Given the description of an element on the screen output the (x, y) to click on. 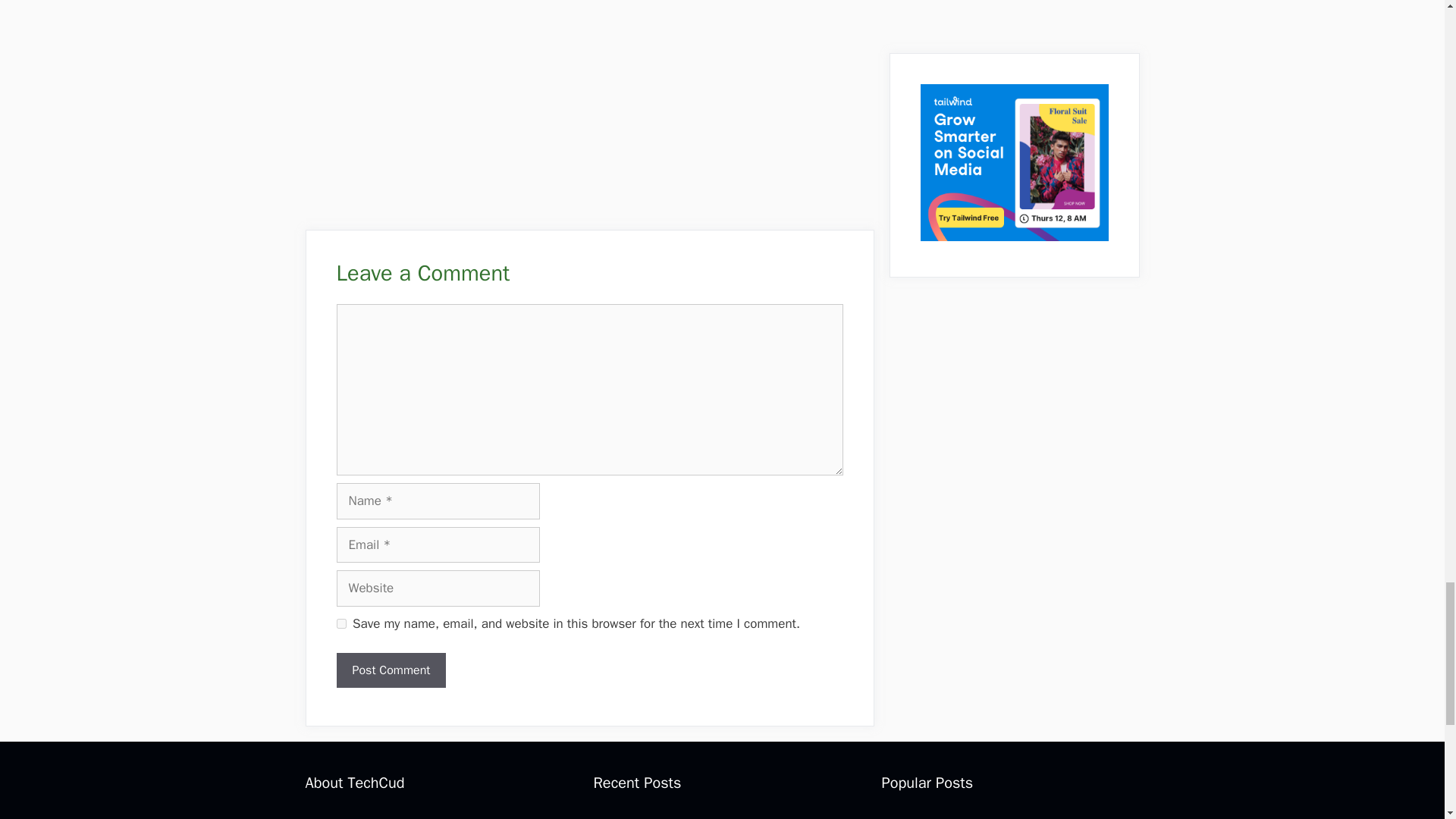
yes (341, 623)
Post Comment (391, 669)
Post Comment (391, 669)
